Given the description of an element on the screen output the (x, y) to click on. 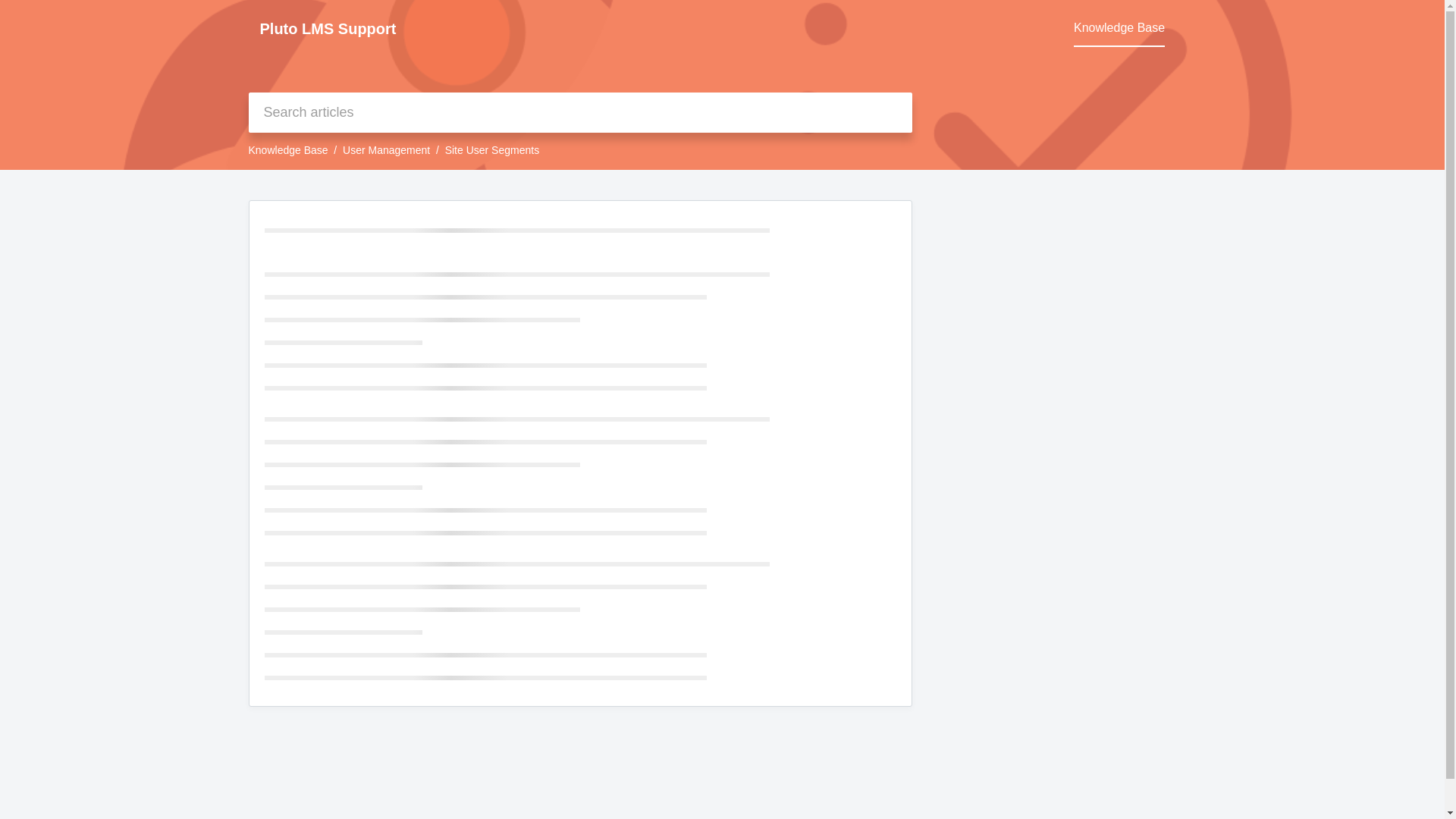
Site User Segments (492, 150)
Knowledge Base (1119, 27)
Knowledge Base (288, 150)
User Management (385, 150)
Knowledge Base (1119, 27)
